Given the description of an element on the screen output the (x, y) to click on. 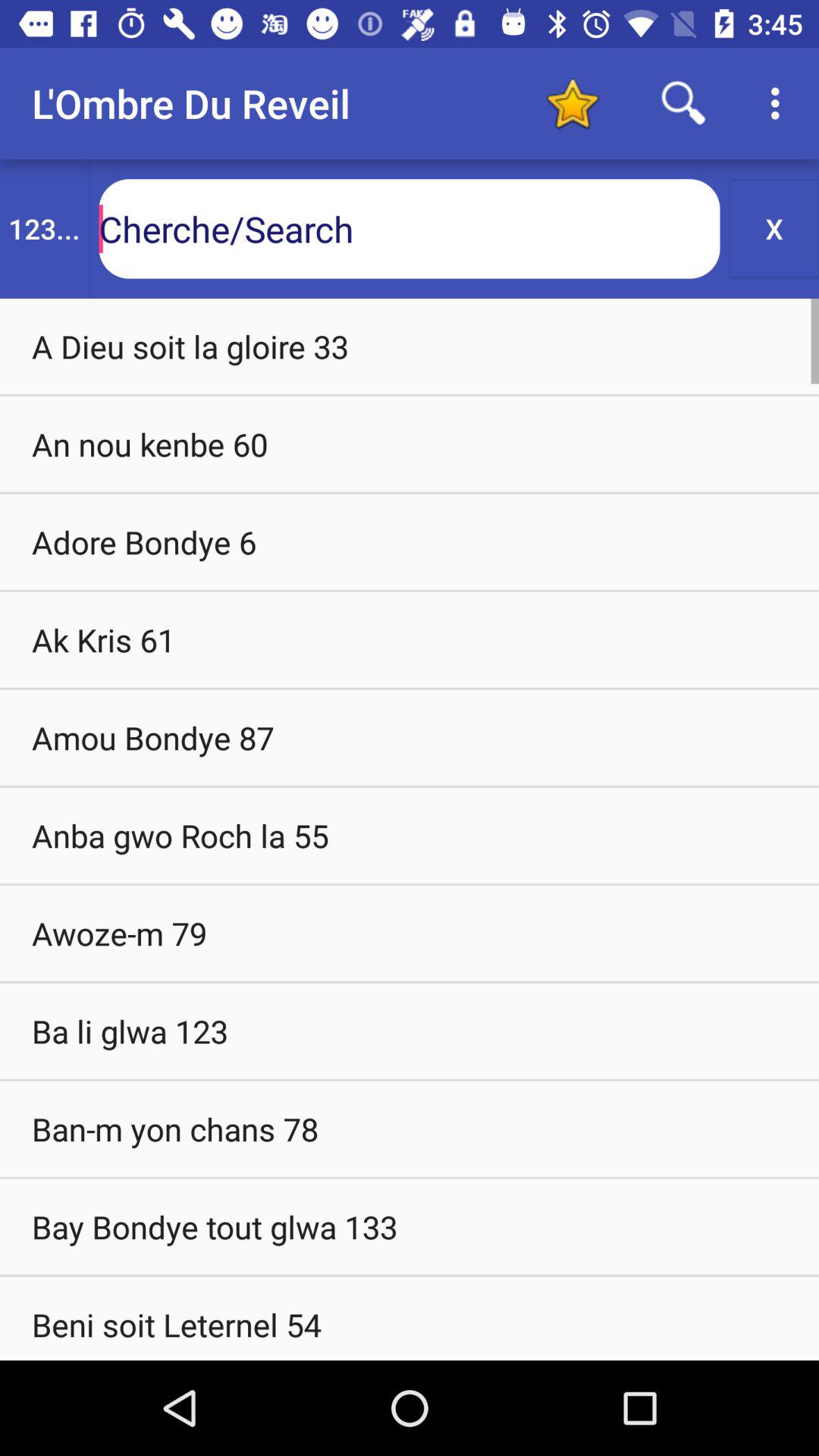
scroll until the 123... (44, 228)
